Given the description of an element on the screen output the (x, y) to click on. 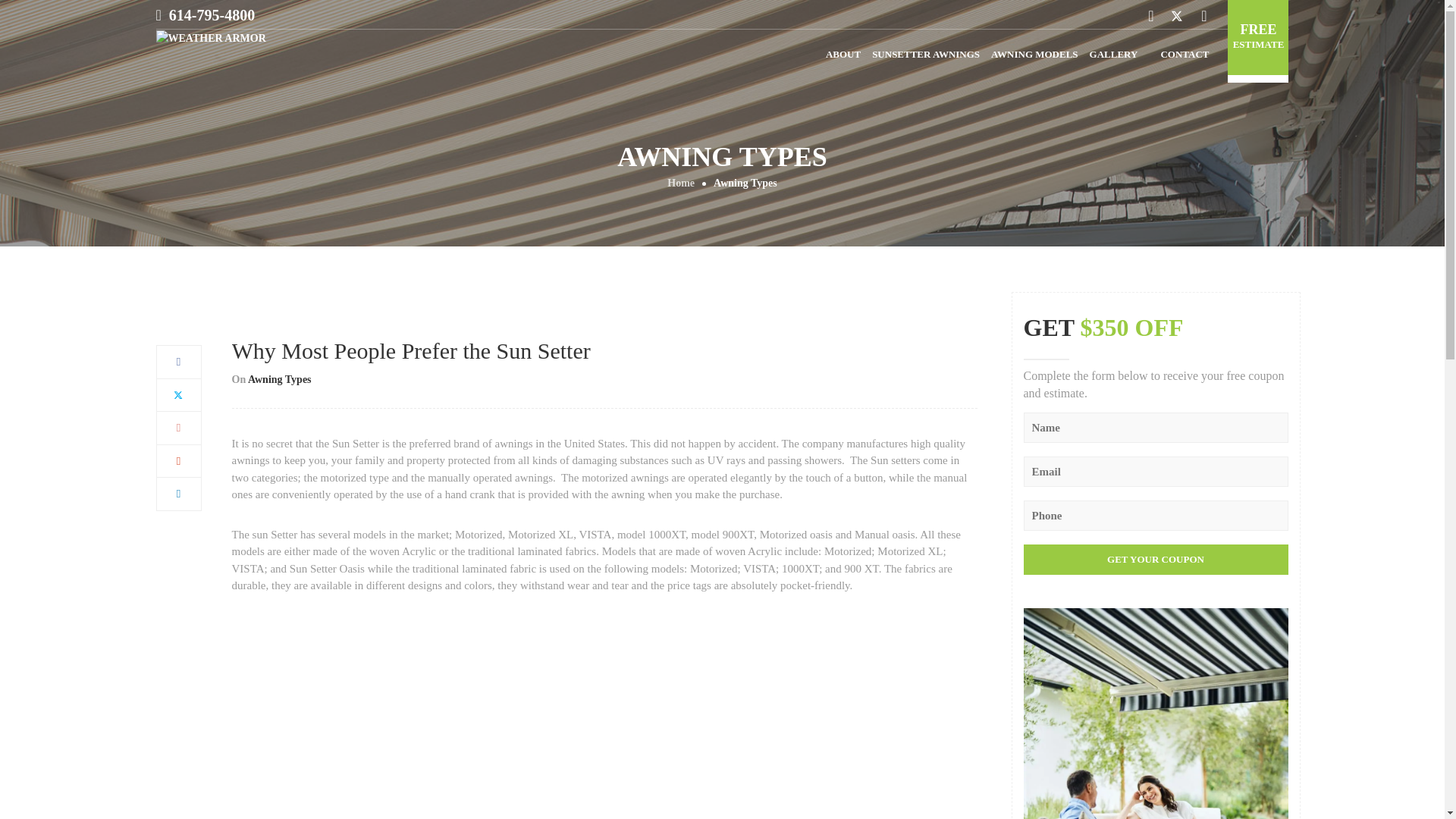
AWNING MODELS (1028, 53)
Home (680, 183)
614-795-4800 (211, 13)
Weather Armor -  (210, 37)
GET YOUR COUPON (1155, 559)
ABOUT (836, 53)
Twitter (178, 394)
SUNSETTER AWNINGS (919, 53)
